Given the description of an element on the screen output the (x, y) to click on. 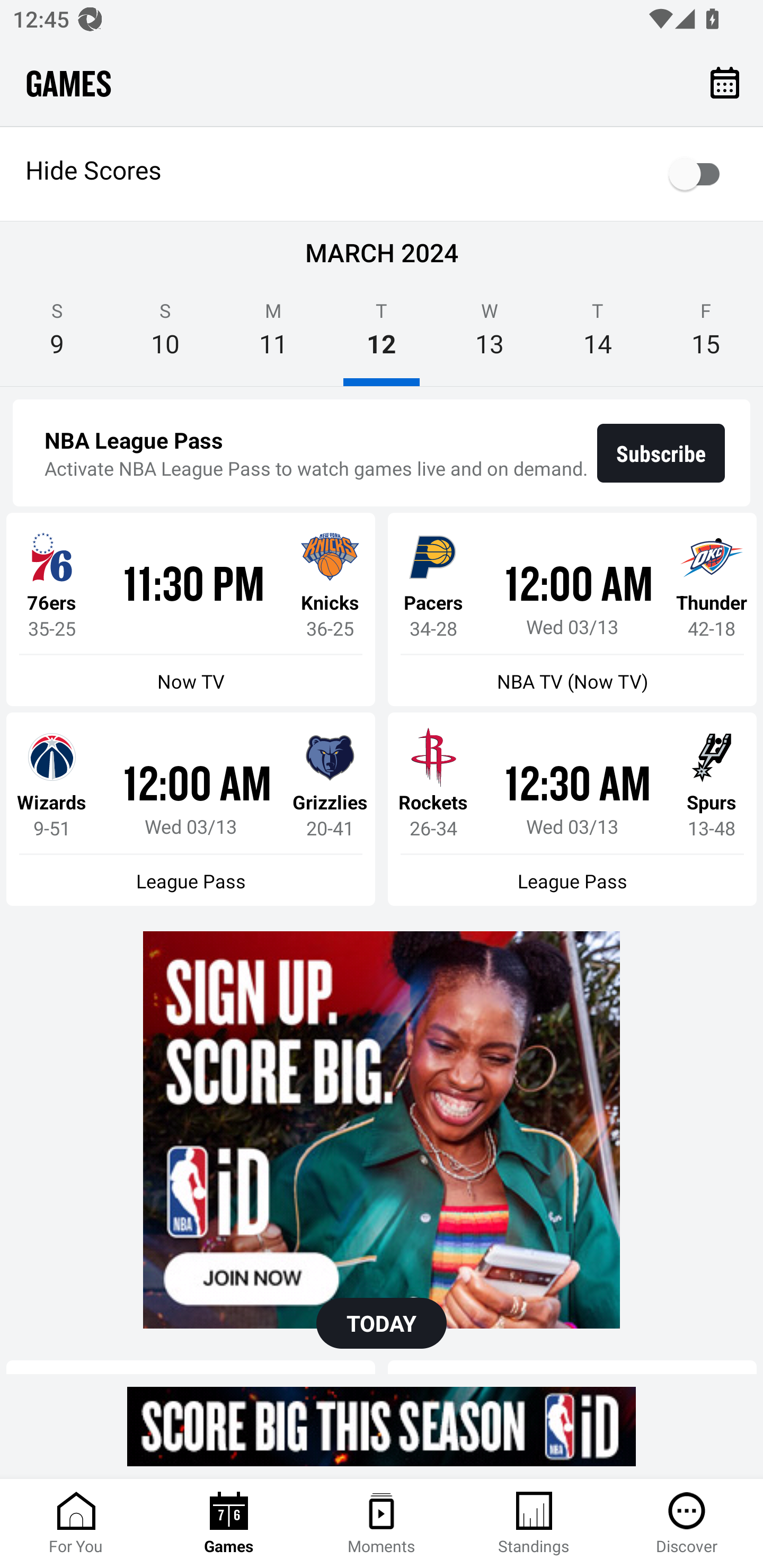
Calendar (724, 81)
Hide Scores (381, 174)
S 9 (57, 334)
S 10 (165, 334)
M 11 (273, 334)
T 12 (381, 334)
W 13 (489, 334)
T 14 (597, 334)
F 15 (705, 334)
Subscribe (660, 452)
TODAY (381, 1323)
For You (76, 1523)
Moments (381, 1523)
Standings (533, 1523)
Discover (686, 1523)
